Given the description of an element on the screen output the (x, y) to click on. 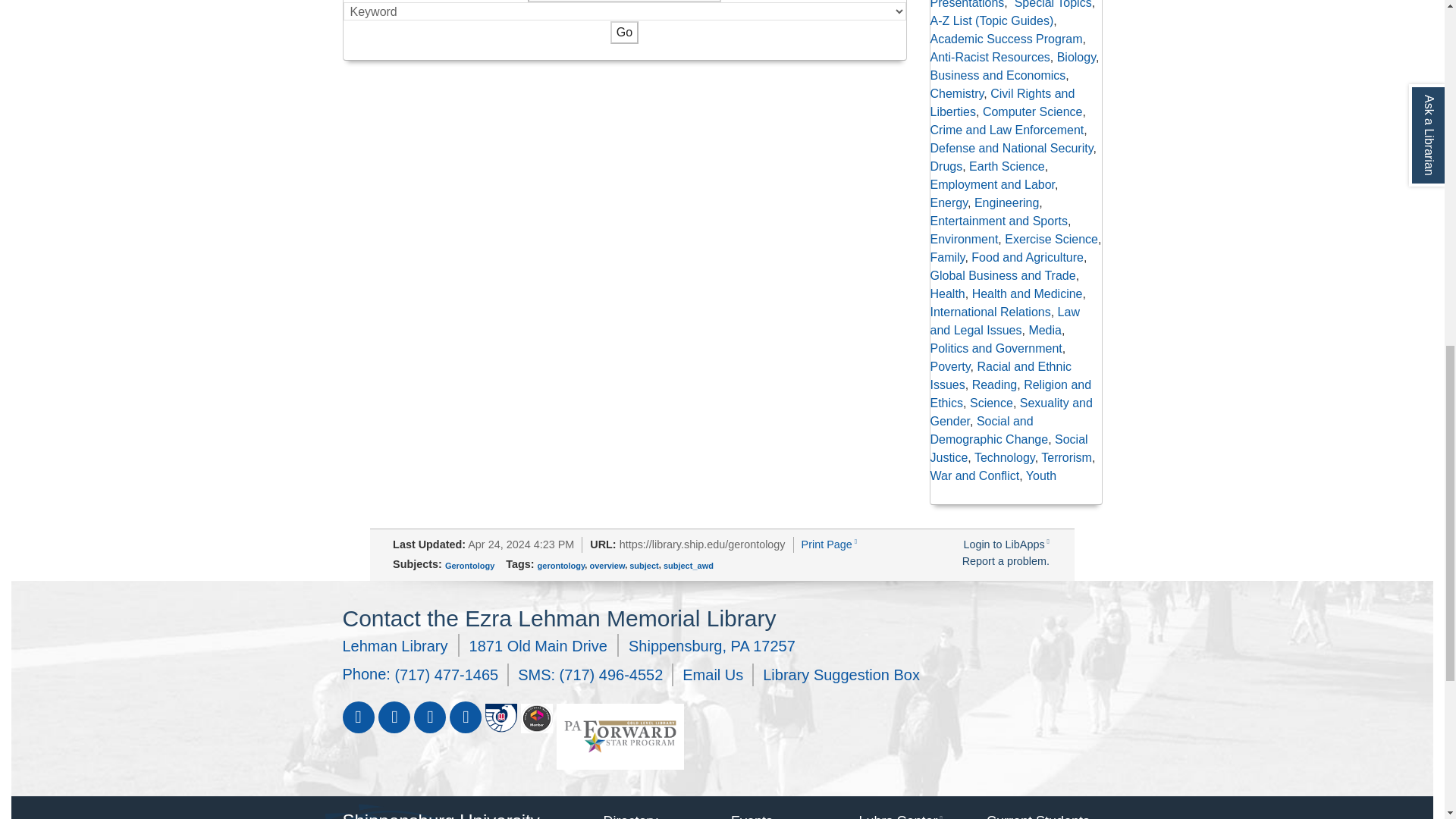
Ship Library on Twitter (393, 717)
View Address on Google Maps (568, 645)
Ship Library on Instagram (464, 717)
Ship Library on Facebook (358, 717)
Ship Library on YouTube (429, 717)
Go (624, 32)
